Given the description of an element on the screen output the (x, y) to click on. 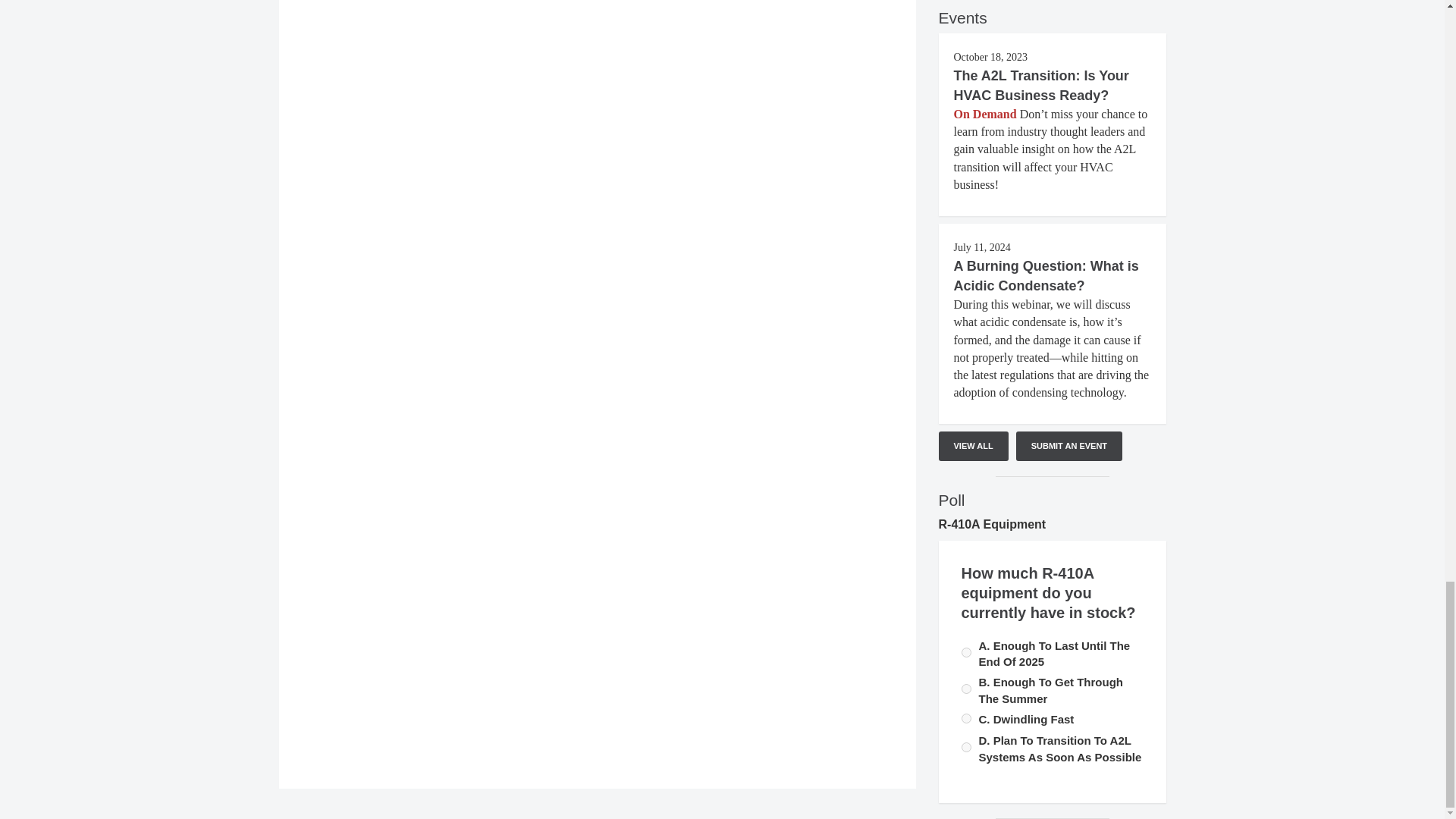
599 (965, 747)
The A2L Transition: Is Your HVAC Business Ready? (1041, 85)
A Burning Question: What is Acidic Condensate? (1045, 275)
597 (965, 652)
598 (965, 718)
596 (965, 688)
